Given the description of an element on the screen output the (x, y) to click on. 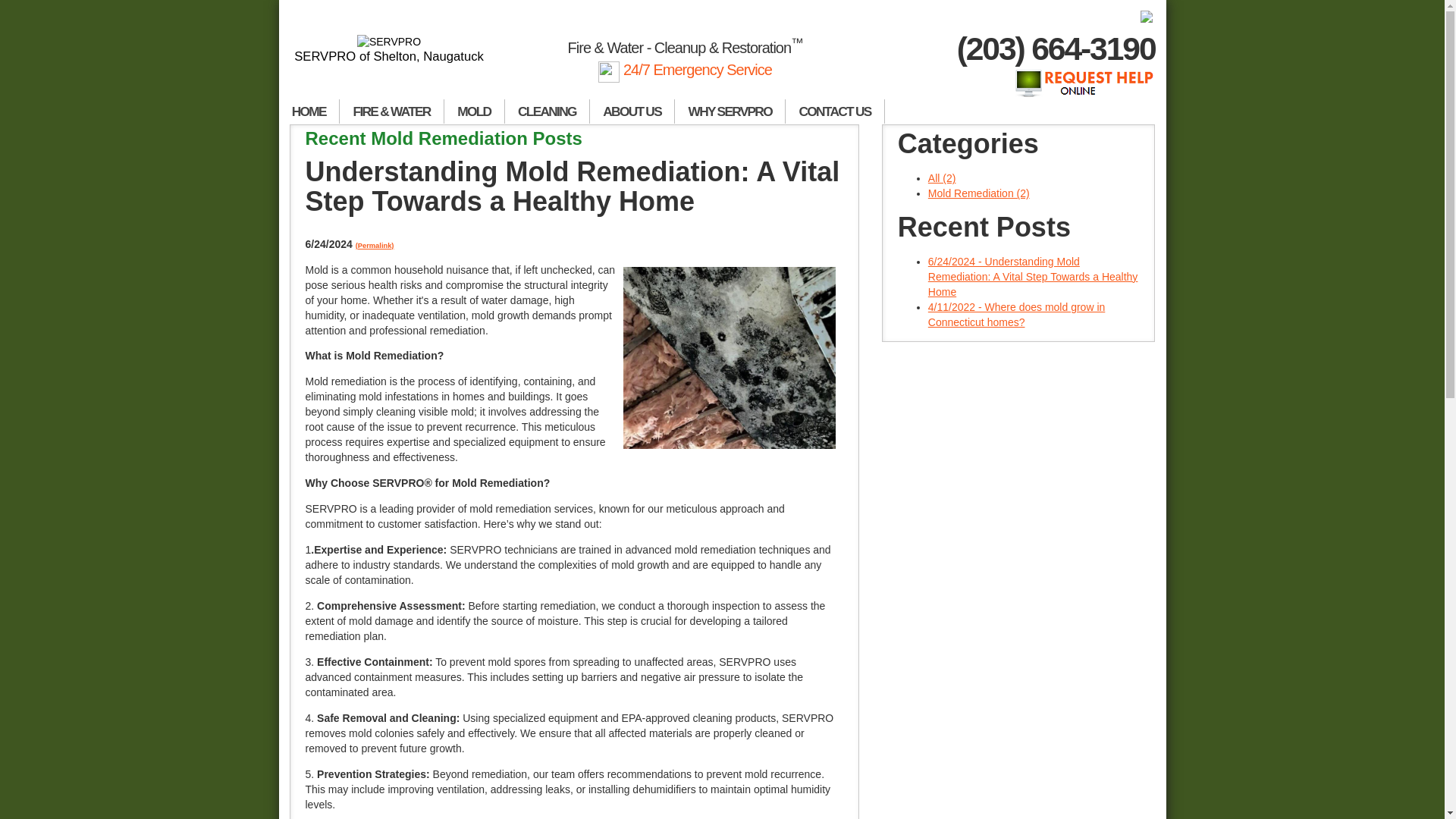
MOLD (474, 111)
ABOUT US (632, 111)
HOME (309, 111)
SERVPRO of Shelton, Naugatuck (389, 49)
CLEANING (547, 111)
